Given the description of an element on the screen output the (x, y) to click on. 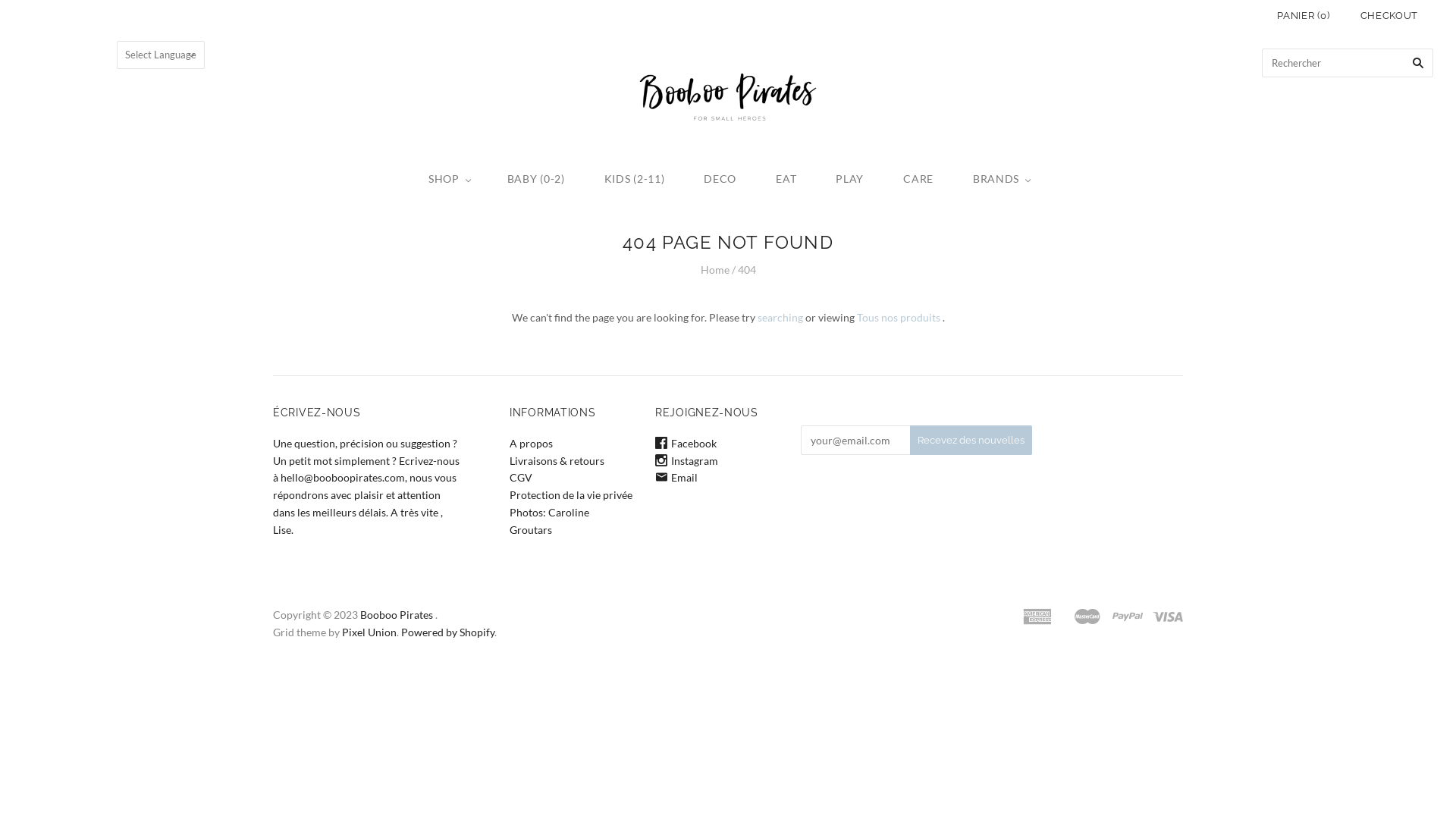
Livraisons & retours Element type: text (556, 460)
Photos: Caroline Groutars Element type: text (549, 520)
PLAY Element type: text (849, 178)
CHECKOUT Element type: text (1389, 15)
SHOP Element type: text (447, 178)
EAT Element type: text (785, 178)
KIDS (2-11) Element type: text (634, 178)
A propos Element type: text (530, 442)
PANIER (0) Element type: text (1303, 15)
Home Element type: text (714, 269)
Email Element type: text (676, 476)
CARE Element type: text (918, 178)
searching Element type: text (779, 316)
Recevez des nouvelles Element type: text (971, 440)
BRANDS Element type: text (1000, 178)
CGV Element type: text (520, 476)
BABY (0-2) Element type: text (535, 178)
Pixel Union Element type: text (369, 631)
Facebook Element type: text (685, 442)
Tous nos produits Element type: text (898, 316)
Powered by Shopify Element type: text (447, 631)
DECO Element type: text (720, 178)
Booboo Pirates Element type: text (396, 614)
Instagram Element type: text (686, 460)
